Given the description of an element on the screen output the (x, y) to click on. 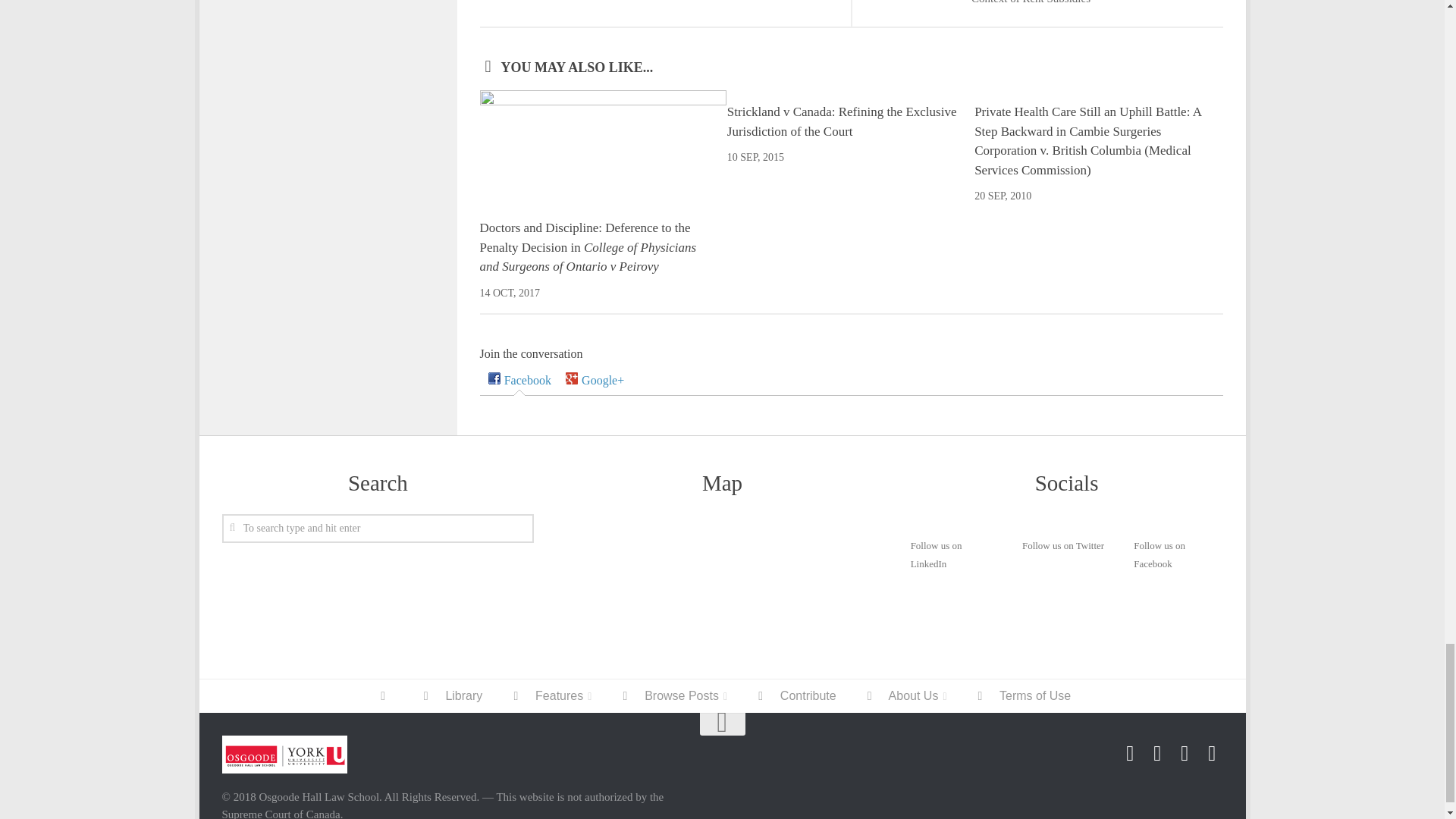
To search type and hit enter (377, 528)
To search type and hit enter (377, 528)
